Given the description of an element on the screen output the (x, y) to click on. 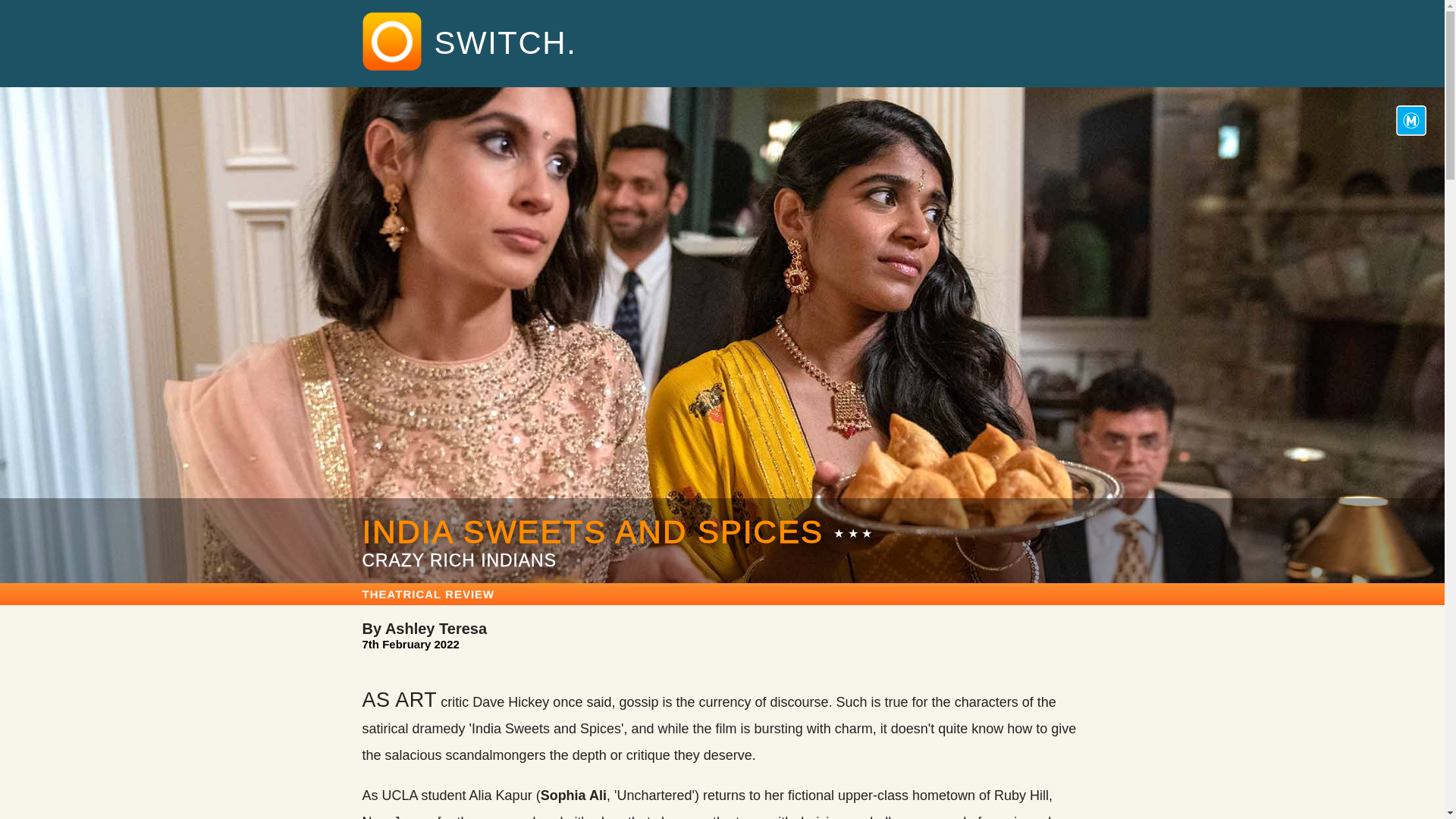
Sophia Ali (573, 795)
By Ashley Teresa (424, 628)
SWITCH. (499, 43)
